Given the description of an element on the screen output the (x, y) to click on. 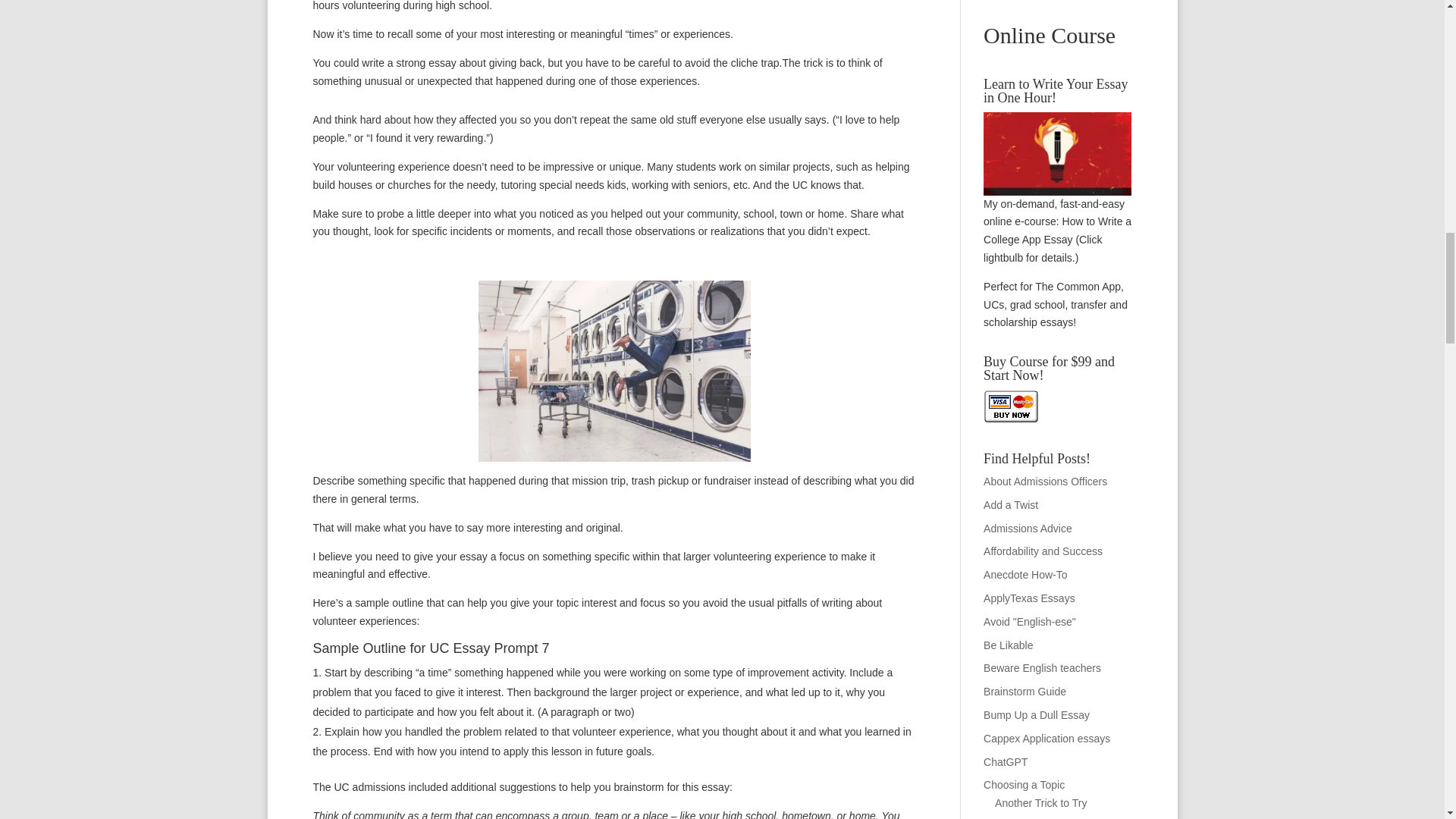
Learn to Write Your Essay in One Hour!  (1057, 153)
